Given the description of an element on the screen output the (x, y) to click on. 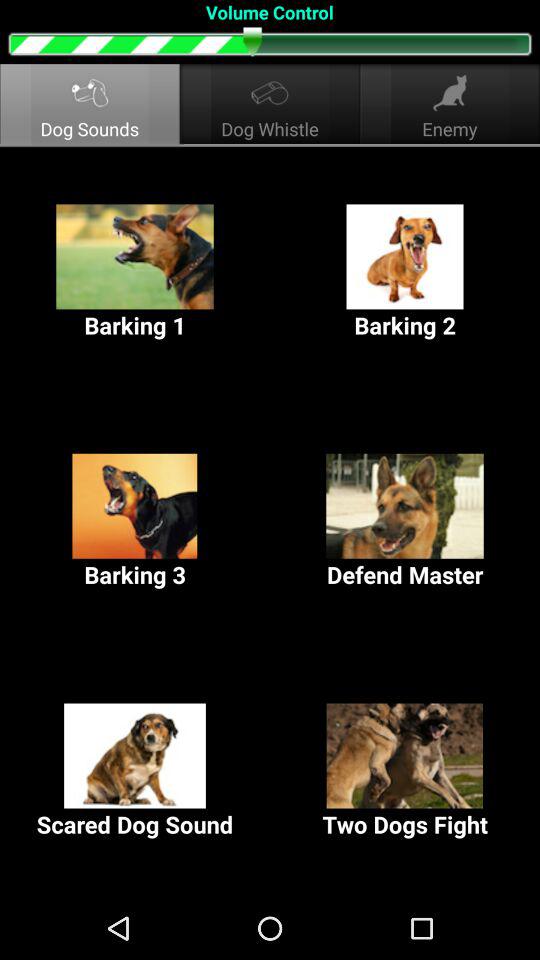
swipe to the barking 1 button (135, 272)
